Given the description of an element on the screen output the (x, y) to click on. 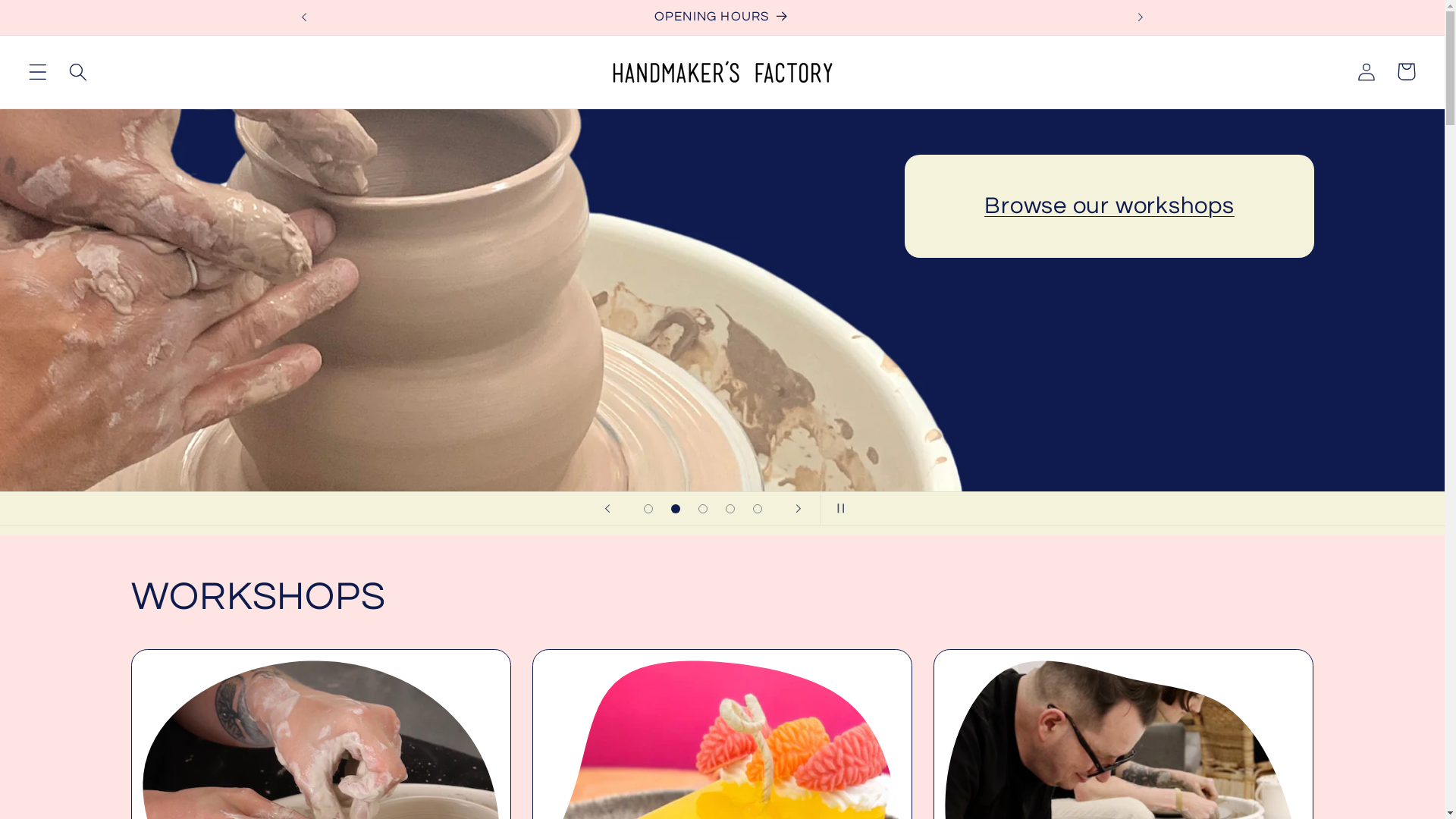
Log in Element type: text (1366, 71)
Browse our workshops Element type: text (1109, 205)
OPENING HOURS Element type: text (722, 17)
Cart Element type: text (1406, 71)
